Given the description of an element on the screen output the (x, y) to click on. 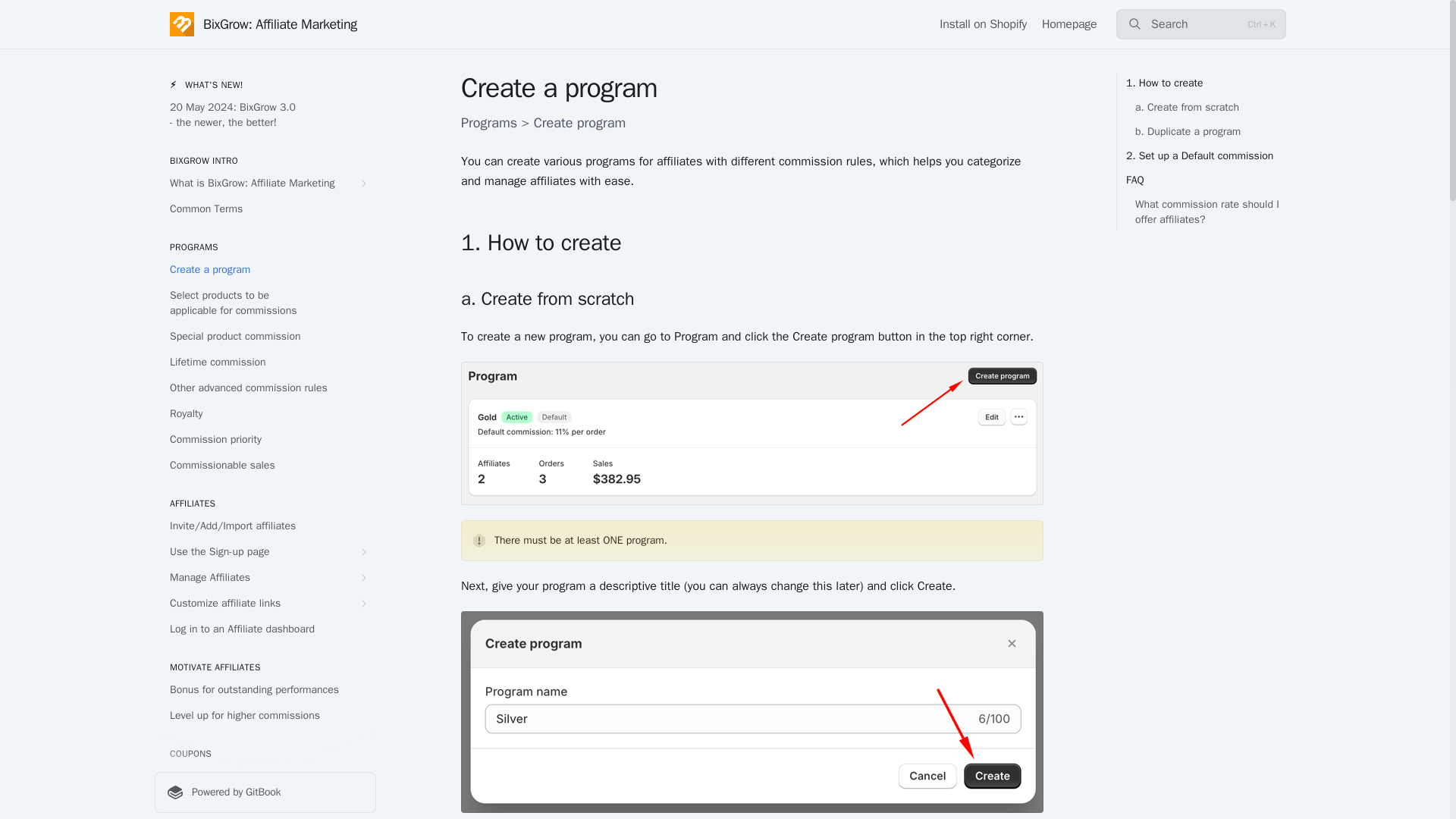
Level up for higher commissions (264, 715)
Select products to be applicable for commissions (264, 302)
Royalty (264, 413)
Auto-applied coupon at checkout (264, 776)
Bonus for outstanding performances (264, 689)
Auto-generated Coupon (264, 802)
Install on Shopify (982, 24)
Log in to an Affiliate dashboard (264, 629)
Common Terms (264, 209)
Use the Sign-up page (264, 551)
Special product commission (264, 336)
Commissionable sales (264, 465)
Customize affiliate links (264, 603)
Create a program (264, 269)
Lifetime commission (264, 362)
